Given the description of an element on the screen output the (x, y) to click on. 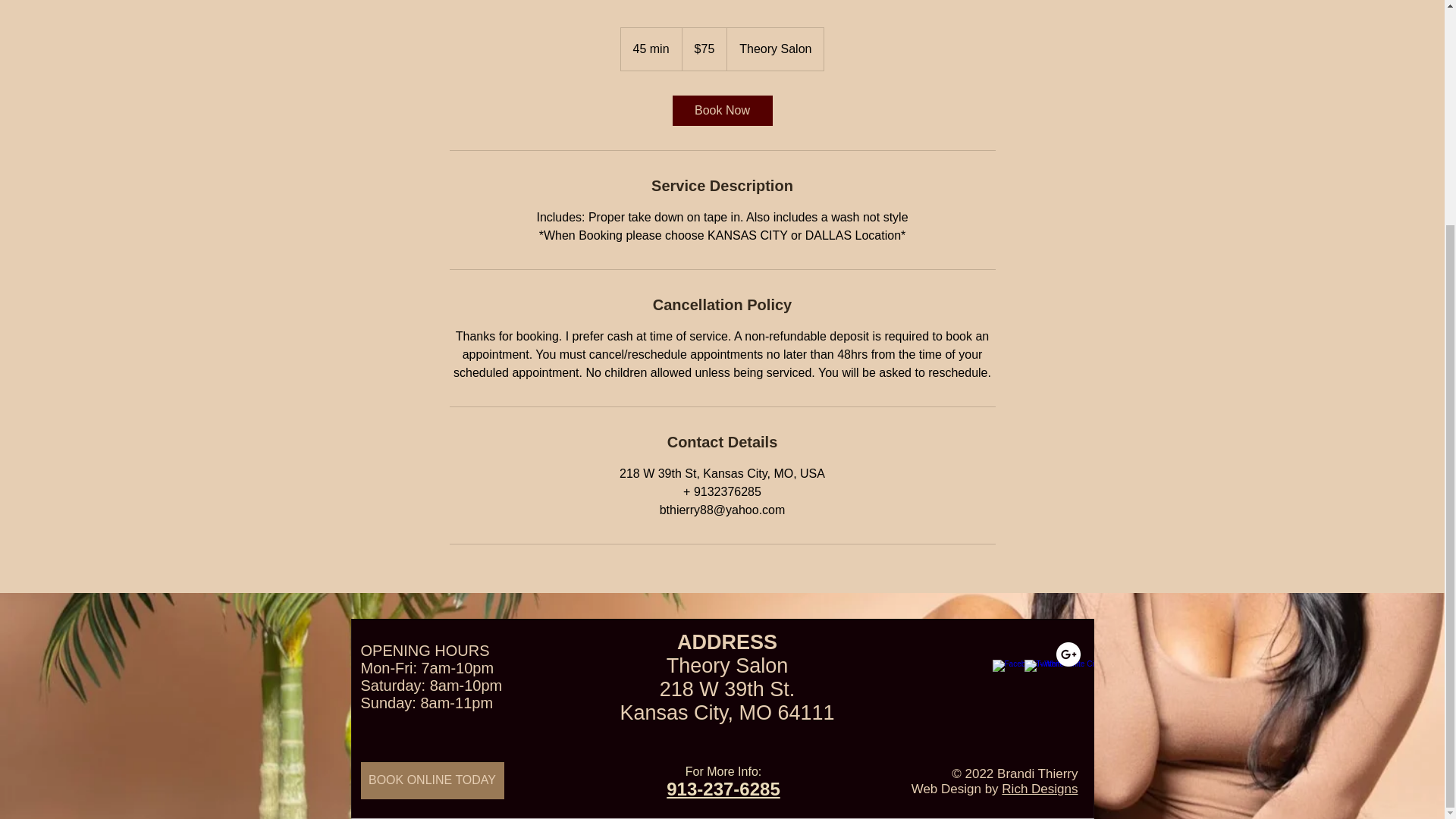
Rich Designs (1039, 789)
913-237-6285 (722, 788)
Book Now (721, 110)
BOOK ONLINE TODAY (432, 780)
